Given the description of an element on the screen output the (x, y) to click on. 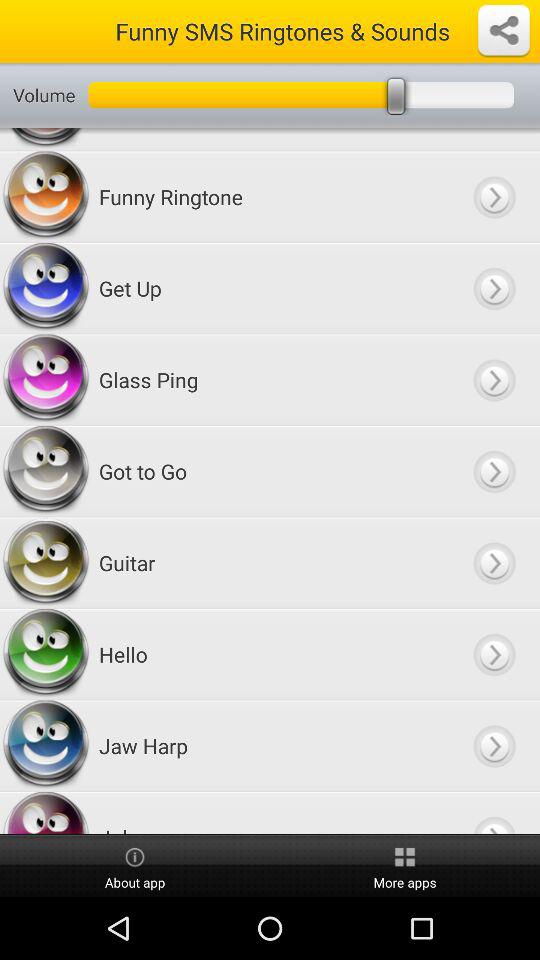
go to play (494, 288)
